Given the description of an element on the screen output the (x, y) to click on. 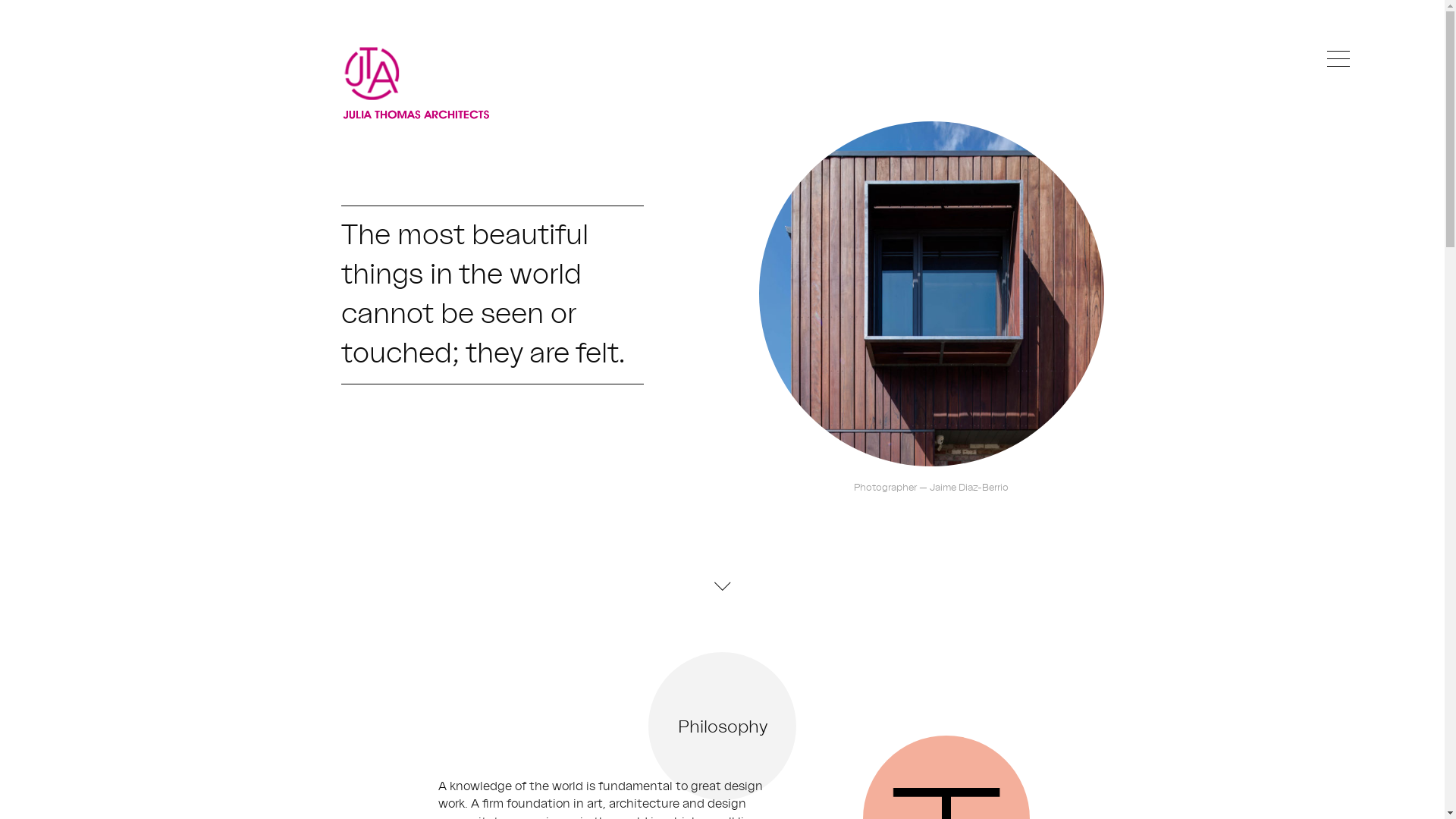
Down Element type: text (722, 585)
